Given the description of an element on the screen output the (x, y) to click on. 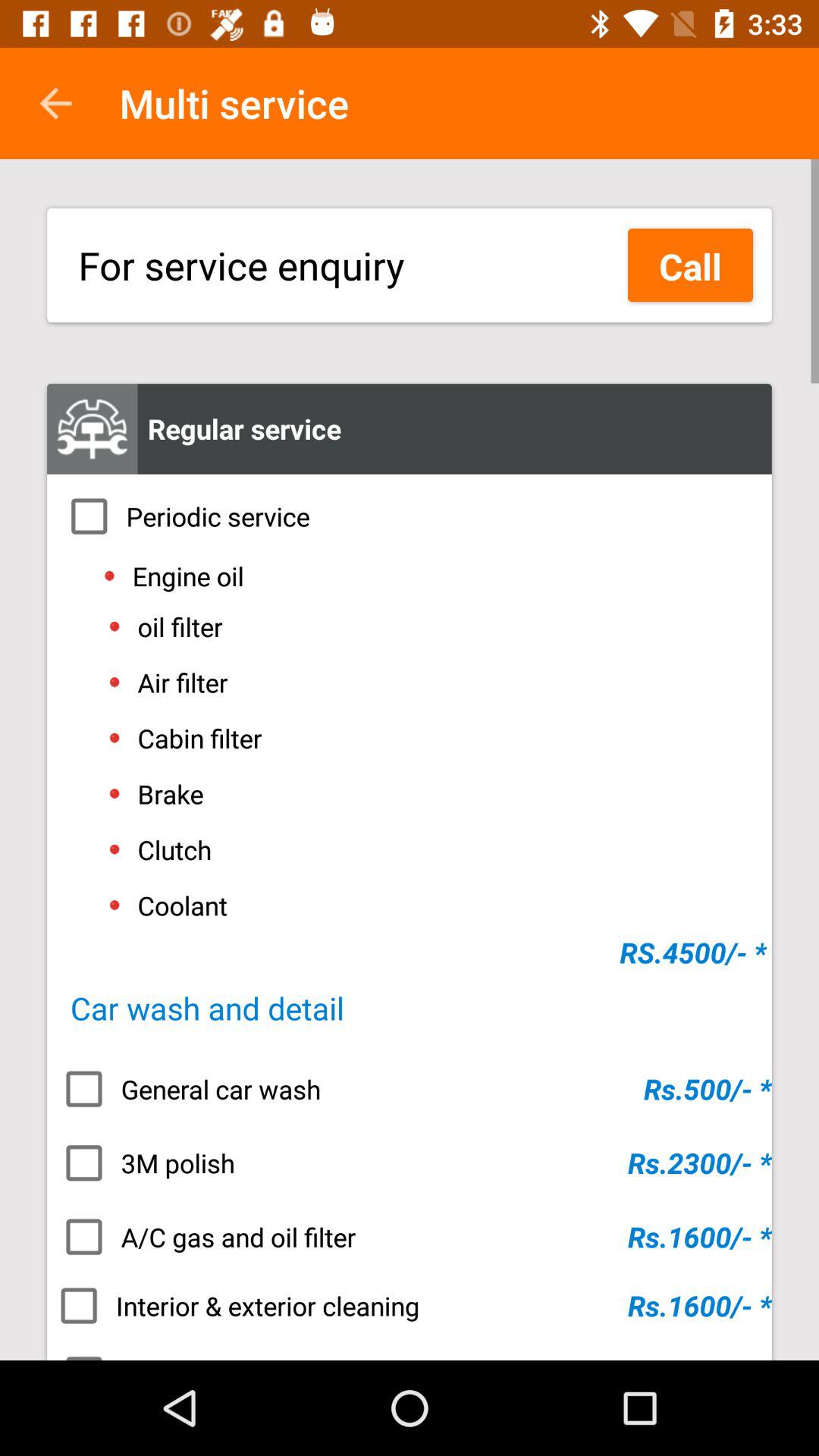
select item above the for service enquiry item (55, 103)
